Given the description of an element on the screen output the (x, y) to click on. 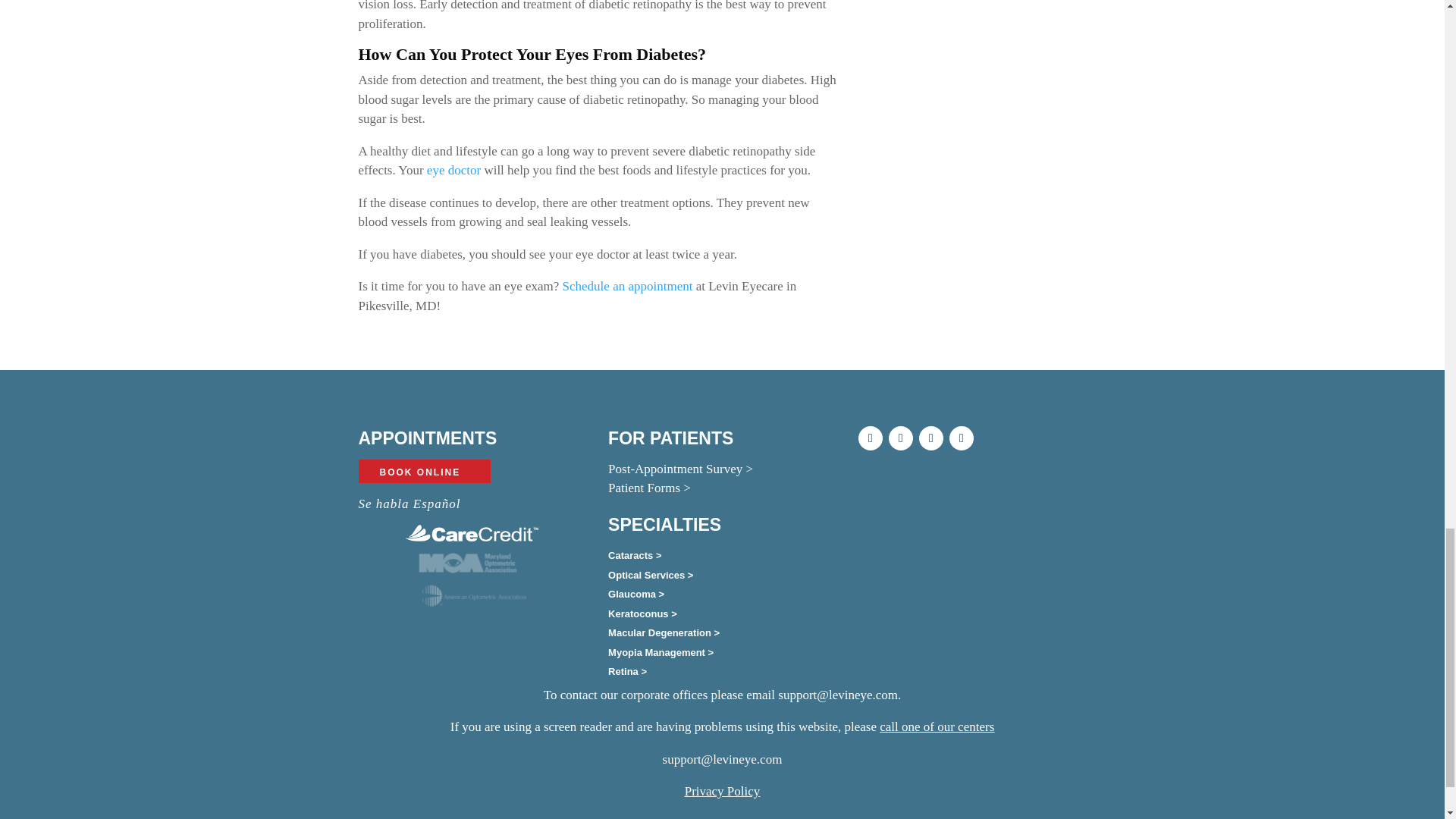
carecredit-logoaCareCredit Logo (472, 533)
Eye Doctors in Baltimore, MD (453, 169)
Book an Appointment here! (627, 286)
